Given the description of an element on the screen output the (x, y) to click on. 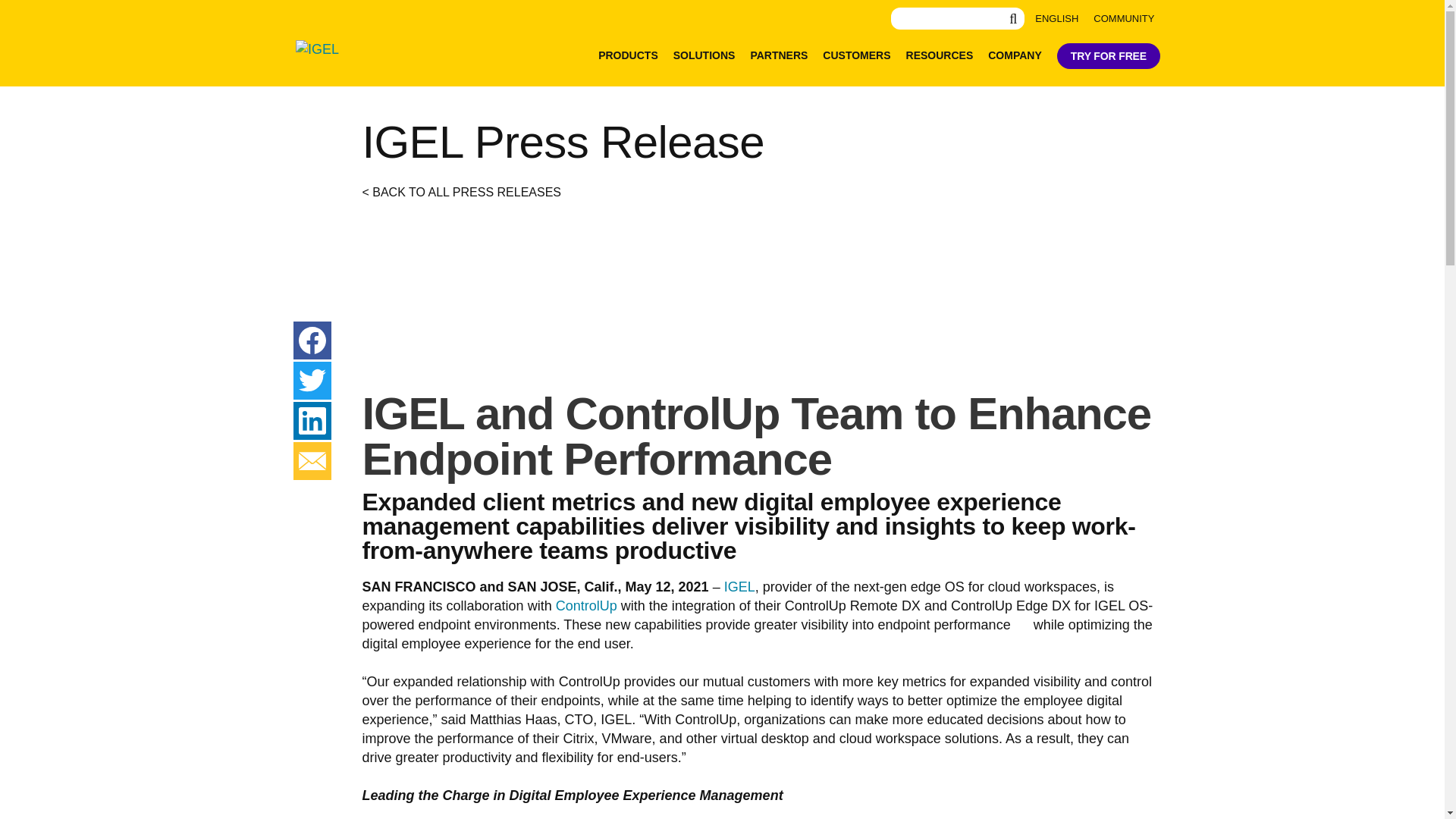
English (1056, 18)
COMMUNITY (1123, 18)
ENGLISH (1056, 18)
